Given the description of an element on the screen output the (x, y) to click on. 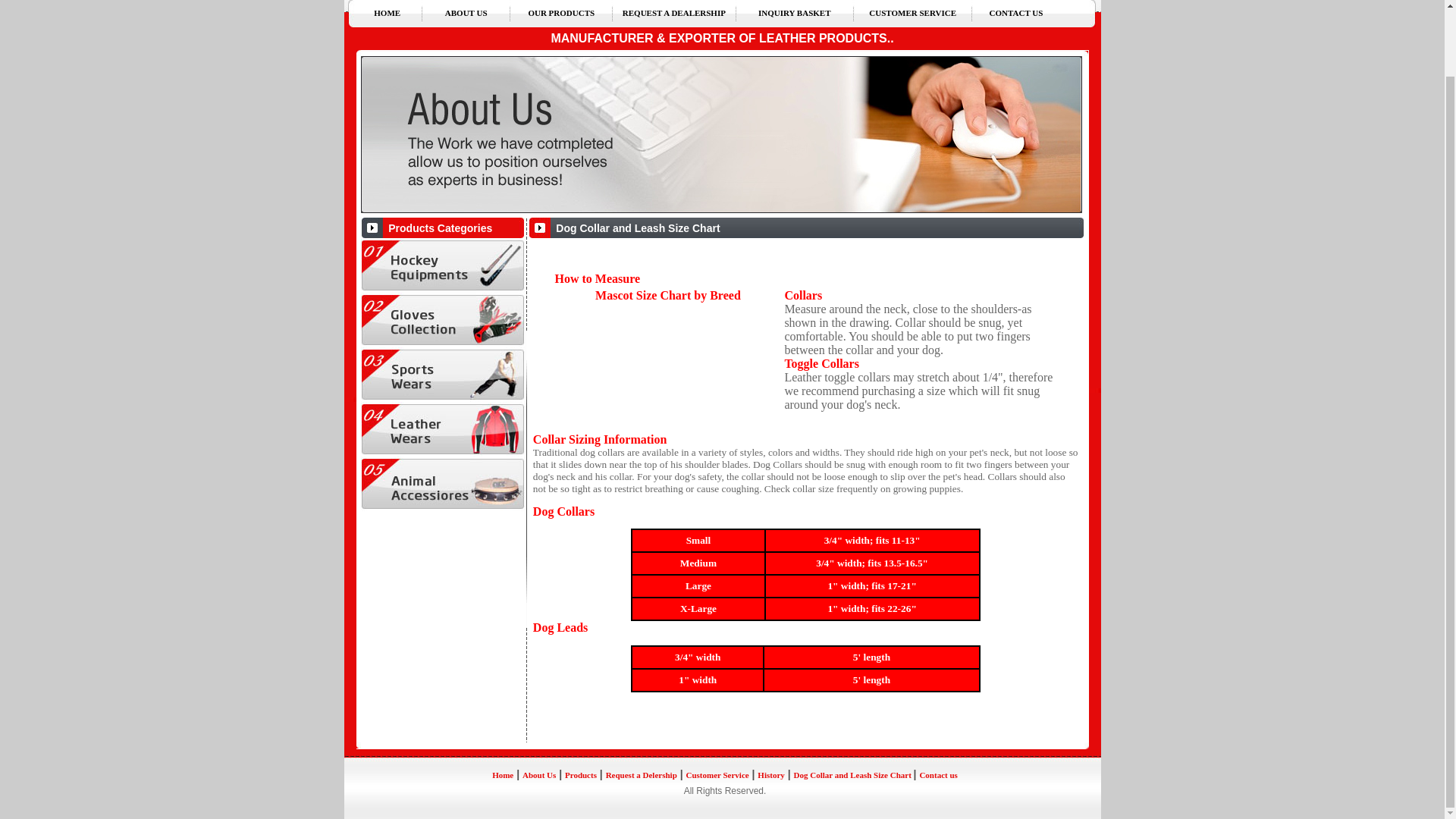
ABOUT US (466, 12)
Products (580, 774)
Dog Collar and Leash Size Chart (853, 774)
REQUEST A DEALERSHIP (674, 12)
Home (502, 774)
OUR PRODUCTS (560, 12)
Customer Service (716, 774)
HOME (387, 12)
Request a Delership (641, 774)
CONTACT US (1016, 12)
About Us (539, 774)
History (770, 774)
CUSTOMER SERVICE (912, 12)
INQUIRY BASKET (793, 12)
